Given the description of an element on the screen output the (x, y) to click on. 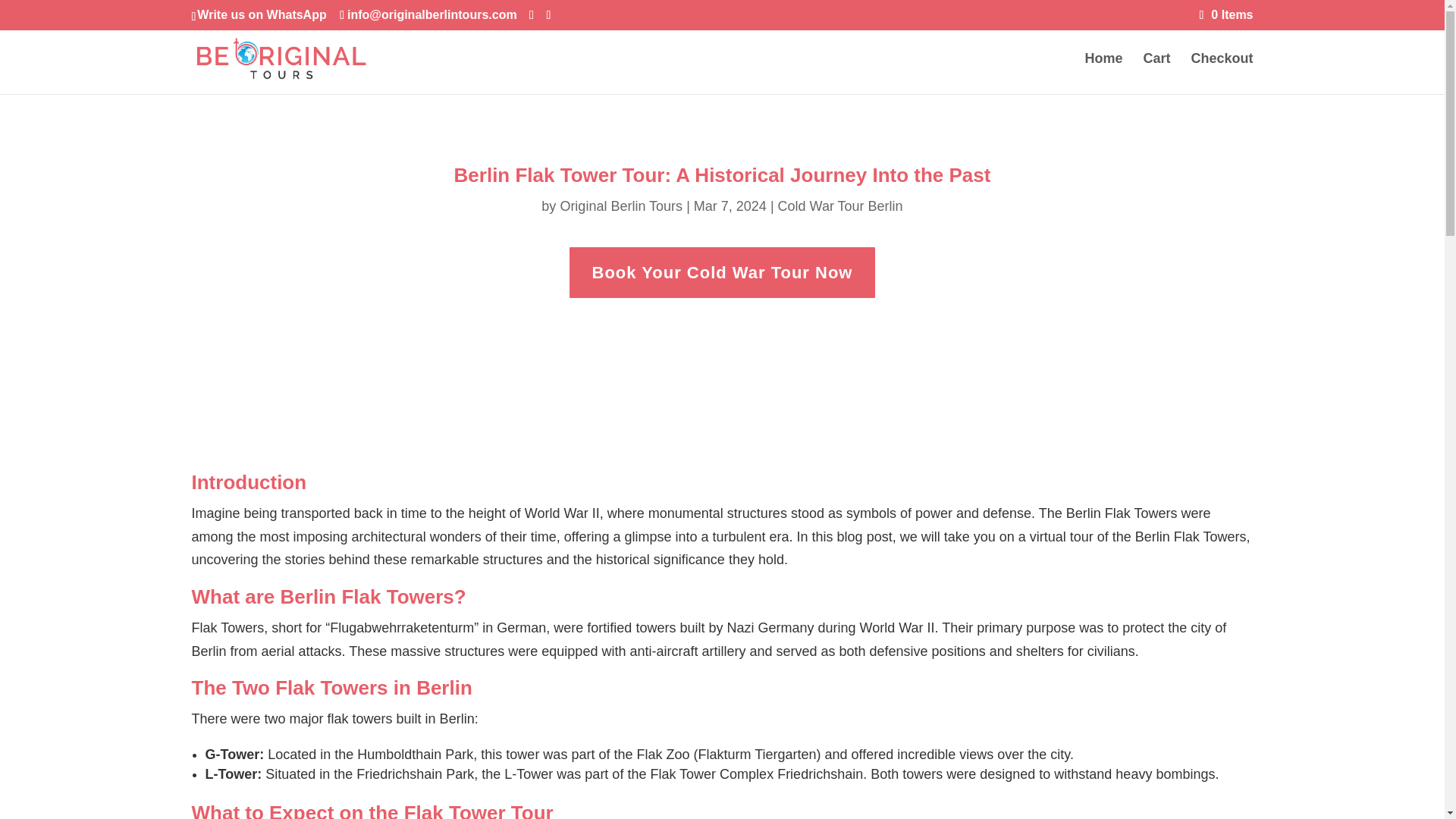
Original Berlin Tours (620, 206)
Book Your Cold War Tour Now (722, 272)
0 Items (1226, 14)
Checkout (1221, 73)
Cold War Tour Berlin (839, 206)
Write us on WhatsApp (261, 14)
Posts by Original Berlin Tours (620, 206)
Home (1103, 73)
